Given the description of an element on the screen output the (x, y) to click on. 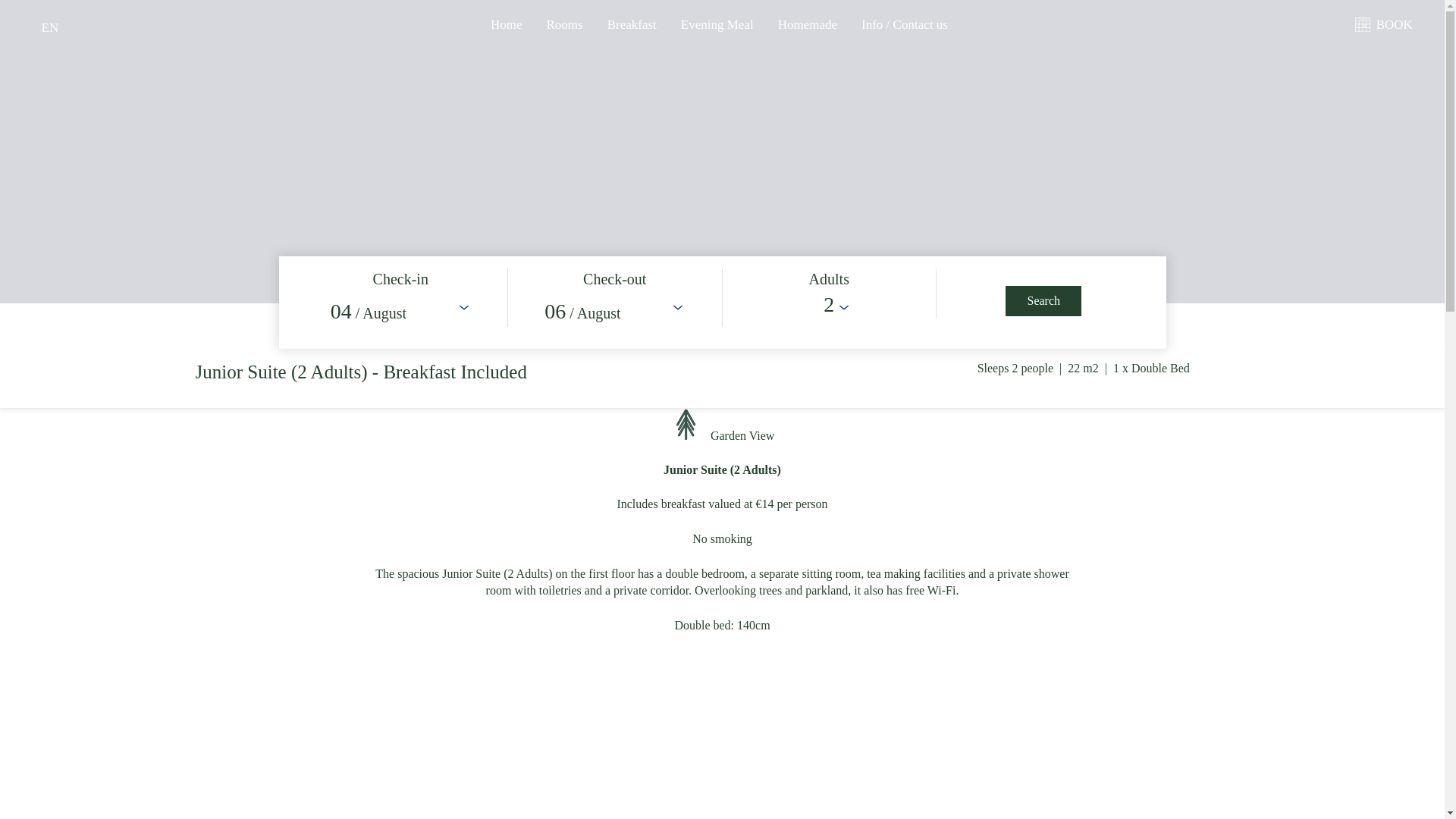
Homemade (807, 24)
Rooms (564, 24)
Home (506, 24)
Evening Meal (717, 24)
Search (1043, 300)
EN (49, 27)
Breakfast (631, 24)
BOOK (1391, 24)
